Given the description of an element on the screen output the (x, y) to click on. 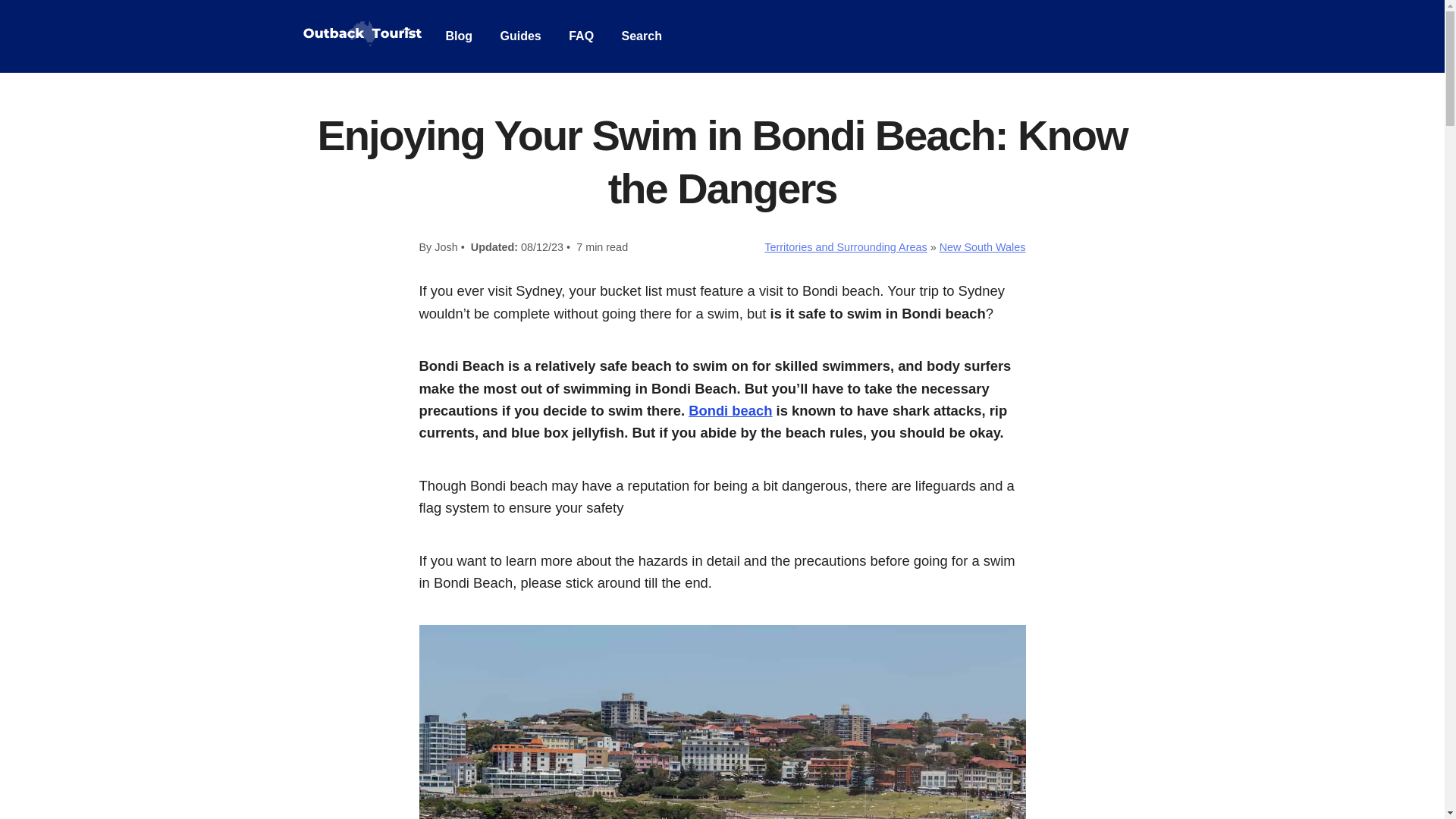
Guides (520, 35)
Territories and Surrounding Areas (845, 246)
Search (641, 35)
Bondi beach (729, 410)
Blog (459, 35)
New South Wales (982, 246)
FAQ (581, 35)
